Given the description of an element on the screen output the (x, y) to click on. 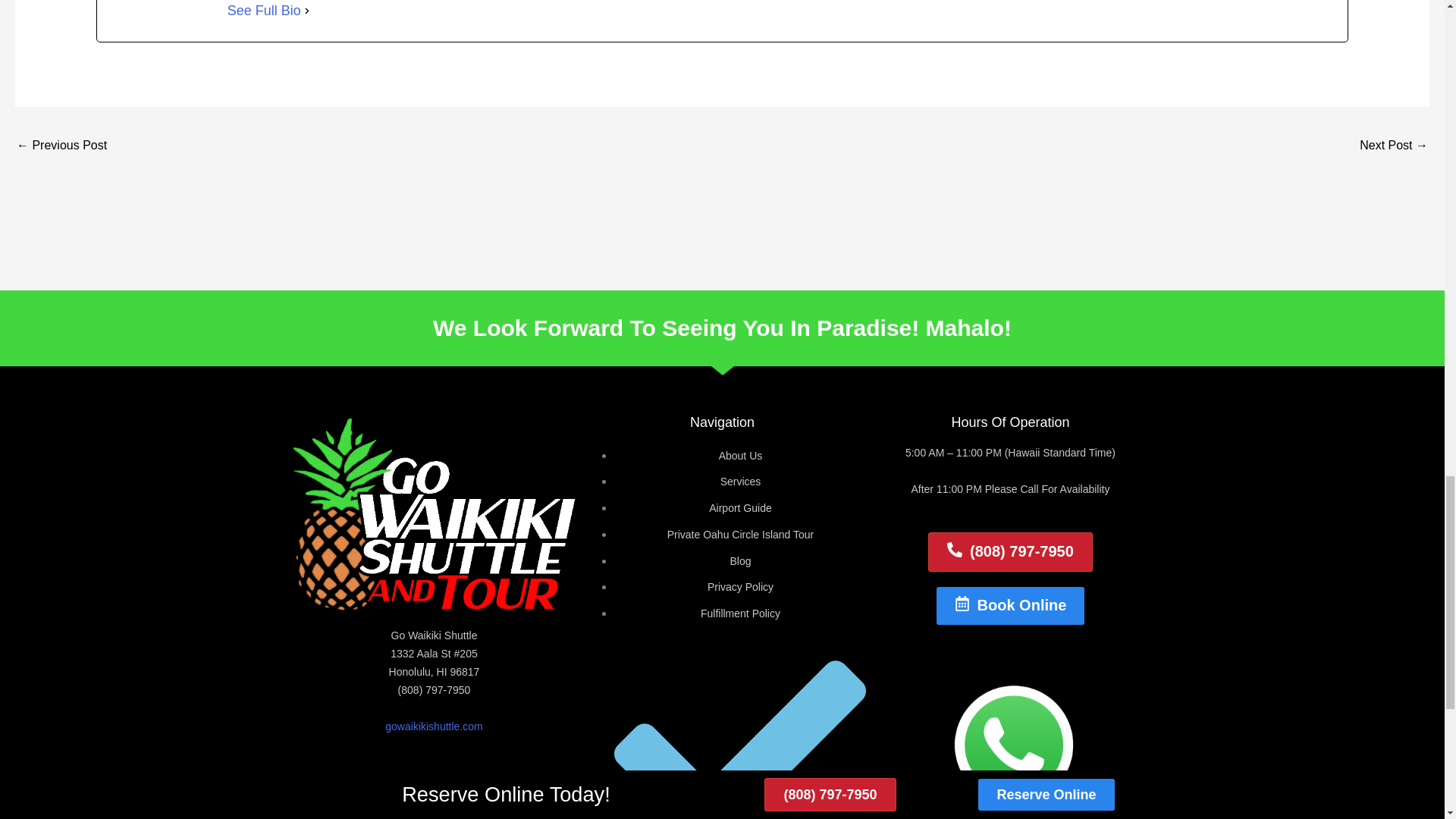
Best Airport Shuttle in Honolulu (1393, 146)
About Us (740, 455)
See Full Bio (264, 11)
Private Oahu Circle Island Tour (739, 534)
Fulfillment Policy (740, 613)
Airport Guide (740, 508)
gowaikikishuttle.com (433, 726)
More than Honolulu Airport Transfers (61, 146)
Services (740, 481)
Blog (740, 561)
